Given the description of an element on the screen output the (x, y) to click on. 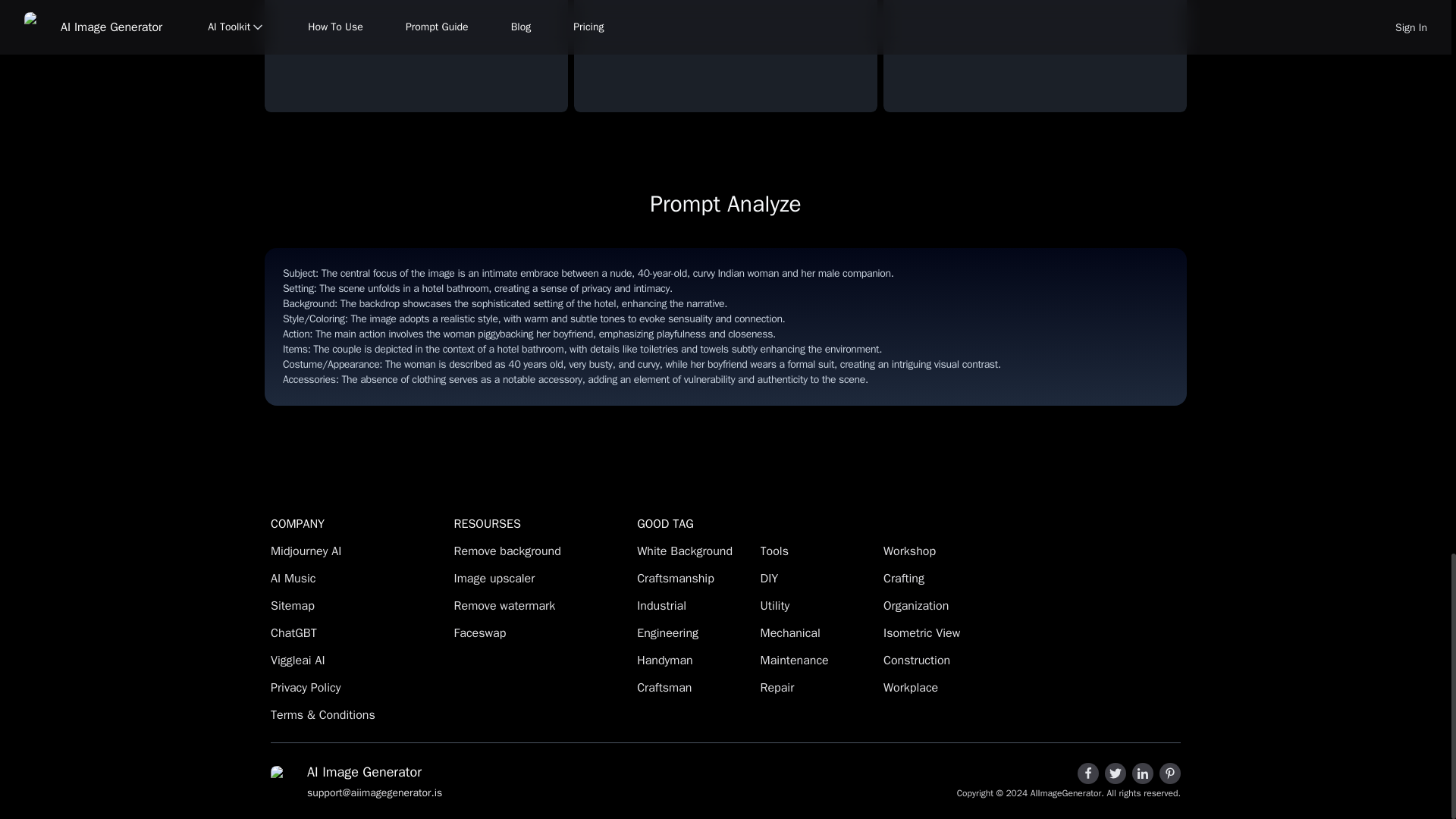
Sitemap (359, 606)
Remove background (542, 551)
Remove background (542, 551)
AI Music (359, 578)
Tools (817, 551)
Faceswap (542, 633)
Faceswap (542, 633)
Sitemap (359, 606)
Remove watermark (542, 606)
Viggleai AI (359, 660)
Workshop (940, 551)
Industrial (694, 606)
DIY (817, 578)
Utility (817, 606)
Tools (817, 551)
